Given the description of an element on the screen output the (x, y) to click on. 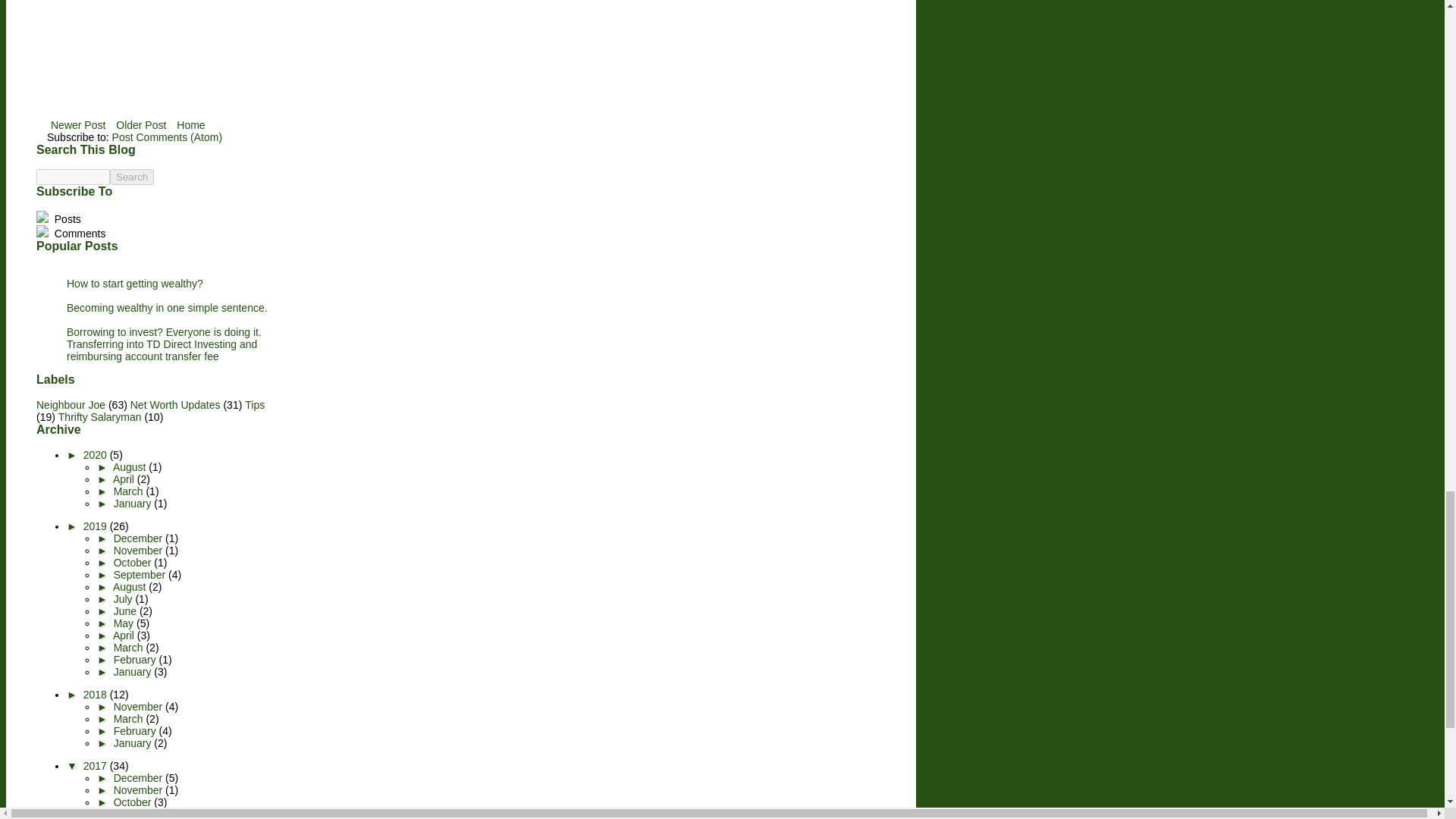
Becoming wealthy in one simple sentence. (166, 307)
Newer Post (77, 125)
Older Post (141, 125)
How to start getting wealthy? (134, 283)
Newer Post (77, 125)
Search (132, 176)
search (132, 176)
Search (132, 176)
Neighbour Joe (70, 404)
search (73, 176)
Borrowing to invest? Everyone is doing it. (164, 331)
Older Post (141, 125)
Home (190, 125)
Search (132, 176)
